Given the description of an element on the screen output the (x, y) to click on. 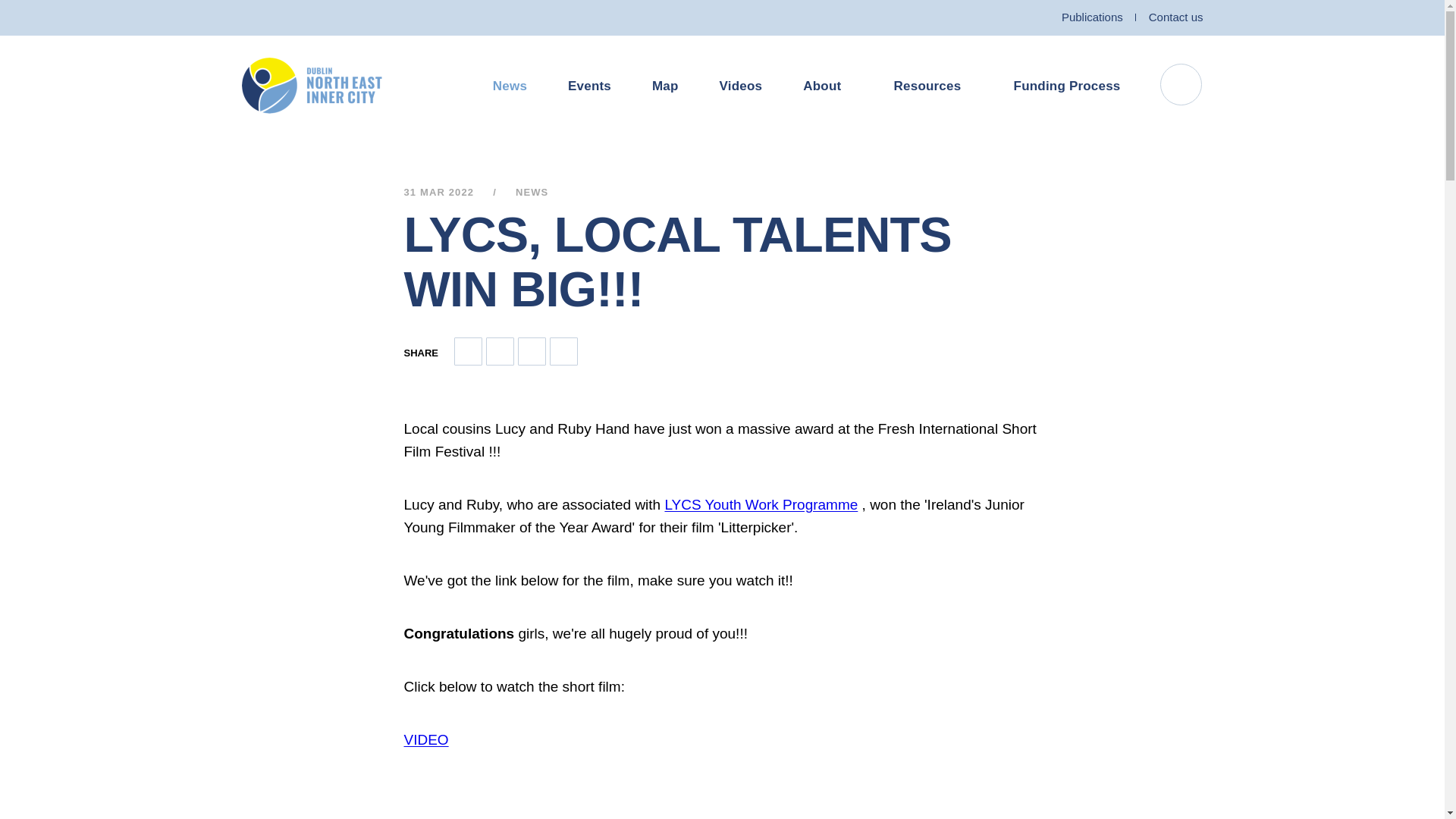
Funding Process (1067, 86)
Share on Twitter (564, 351)
Share on Facebook (499, 351)
Share on LinkedIn (532, 351)
Share by Email (467, 351)
LYCS Youth Work Programme (760, 504)
Resources (932, 86)
Videos (740, 86)
News (510, 86)
Map (665, 86)
About (827, 86)
Events (589, 86)
Publications (1091, 16)
VIDEO (425, 739)
Contact us (1176, 16)
